Given the description of an element on the screen output the (x, y) to click on. 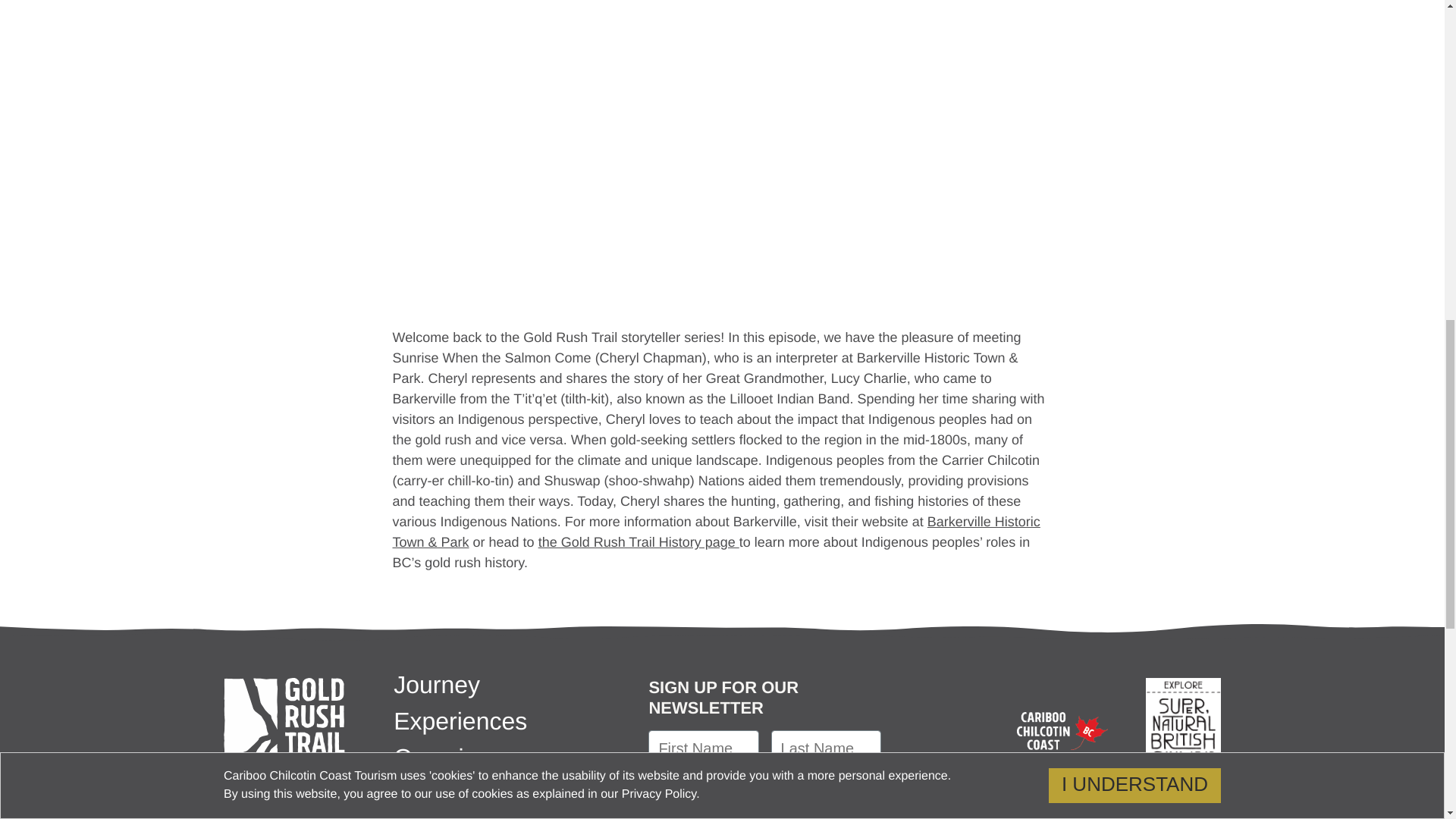
Overview (444, 757)
History (430, 817)
Stories (430, 793)
Journey (436, 684)
the Gold Rush Trail History page (638, 541)
Experiences (460, 720)
